Given the description of an element on the screen output the (x, y) to click on. 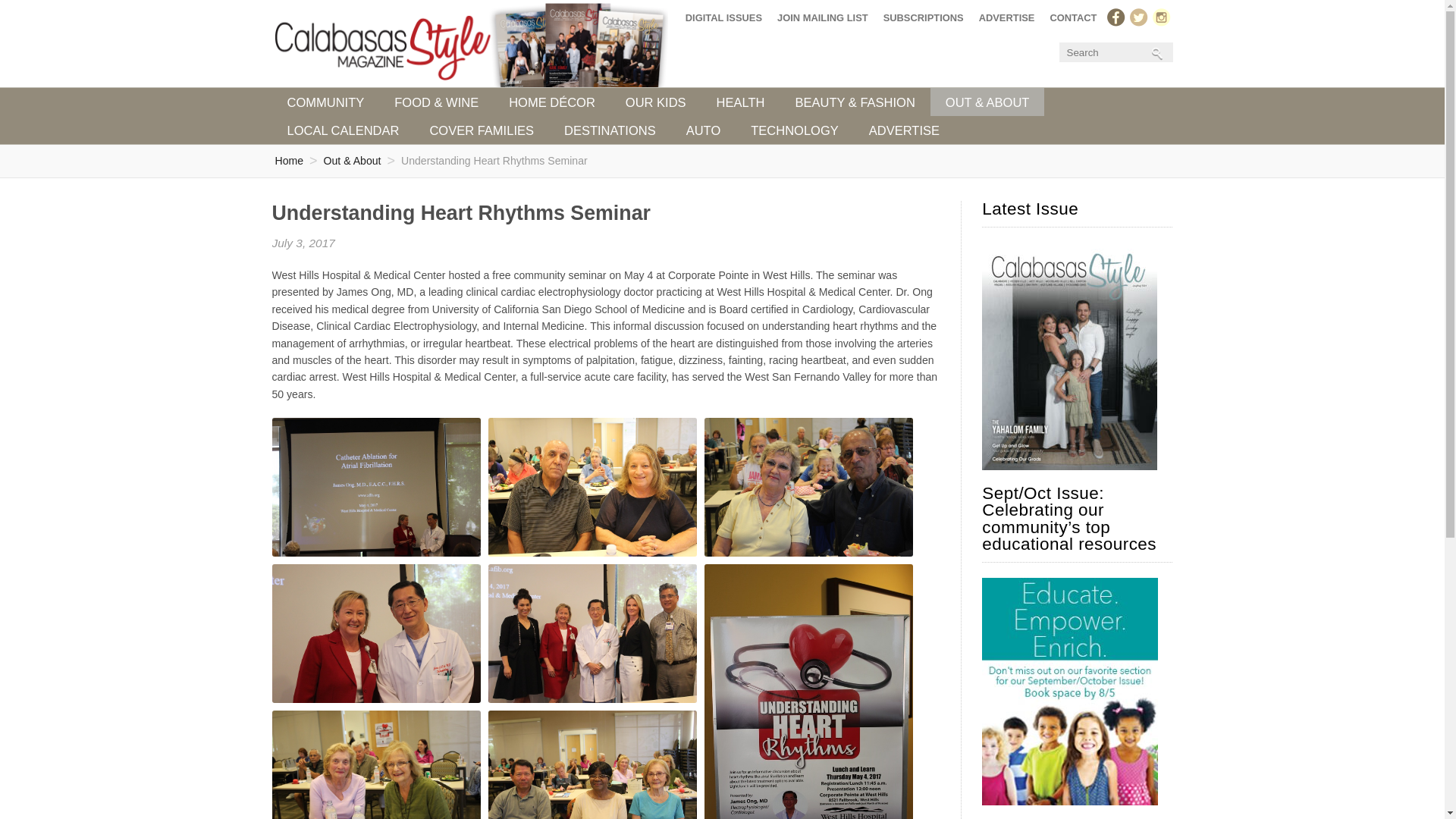
OUR KIDS (655, 101)
HEALTH (740, 101)
JOIN MAILING LIST (823, 17)
TECHNOLOGY (794, 130)
SUBSCRIPTIONS (923, 17)
Understanding Heart Rhythms Seminar (494, 160)
LOCAL CALENDAR (341, 130)
Home (288, 160)
COMMUNITY (324, 101)
DESTINATIONS (609, 130)
AUTO (703, 130)
ADVERTISE (1006, 17)
Search (1113, 51)
DIGITAL ISSUES (724, 17)
CONTACT (1072, 17)
